Given the description of an element on the screen output the (x, y) to click on. 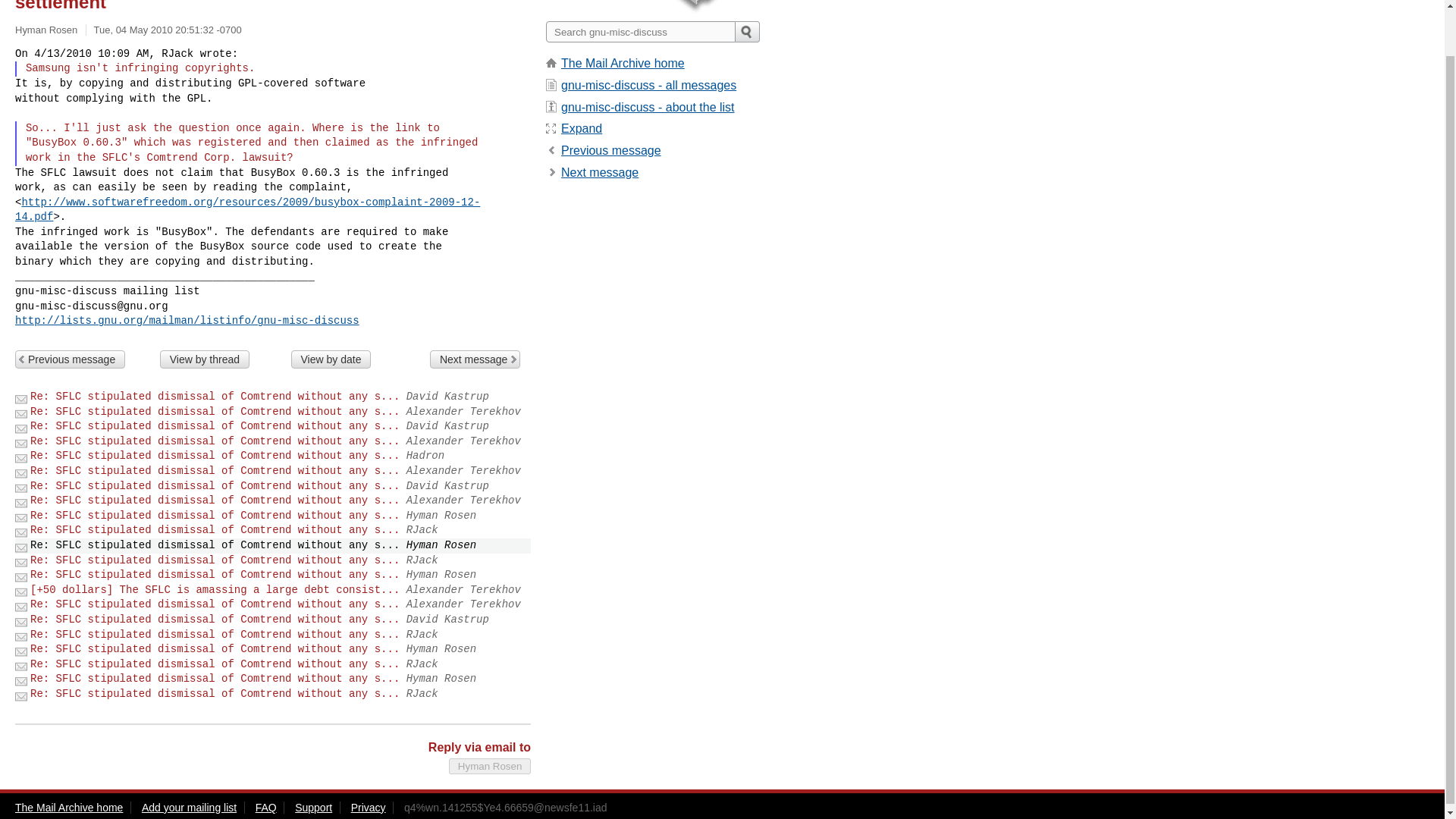
The Mail Archive home (68, 807)
Re: SFLC stipulated dismissal of Comtrend without any s... (214, 678)
Expand (581, 128)
gnu-misc-discuss - all messages (648, 84)
Re: SFLC stipulated dismissal of Comtrend without any s... (214, 604)
gnu-misc-discuss - about the list (647, 106)
Next message (474, 359)
Previous message (610, 150)
View by thread (204, 359)
The Mail Archive home (622, 62)
